Given the description of an element on the screen output the (x, y) to click on. 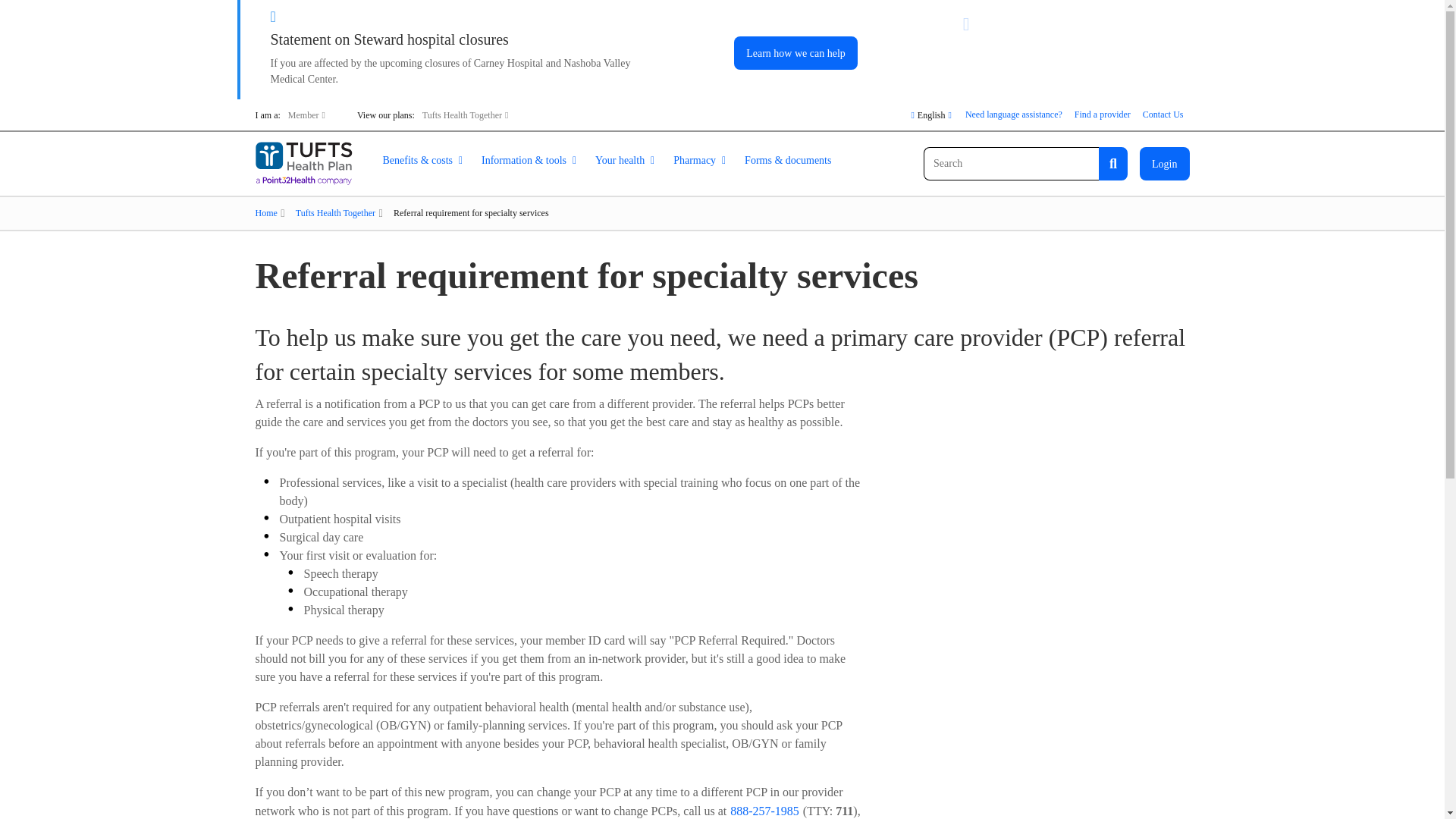
Learn how we can help (795, 52)
Skip to main content (264, 9)
Tufts Health Together (465, 114)
Member (307, 114)
